Given the description of an element on the screen output the (x, y) to click on. 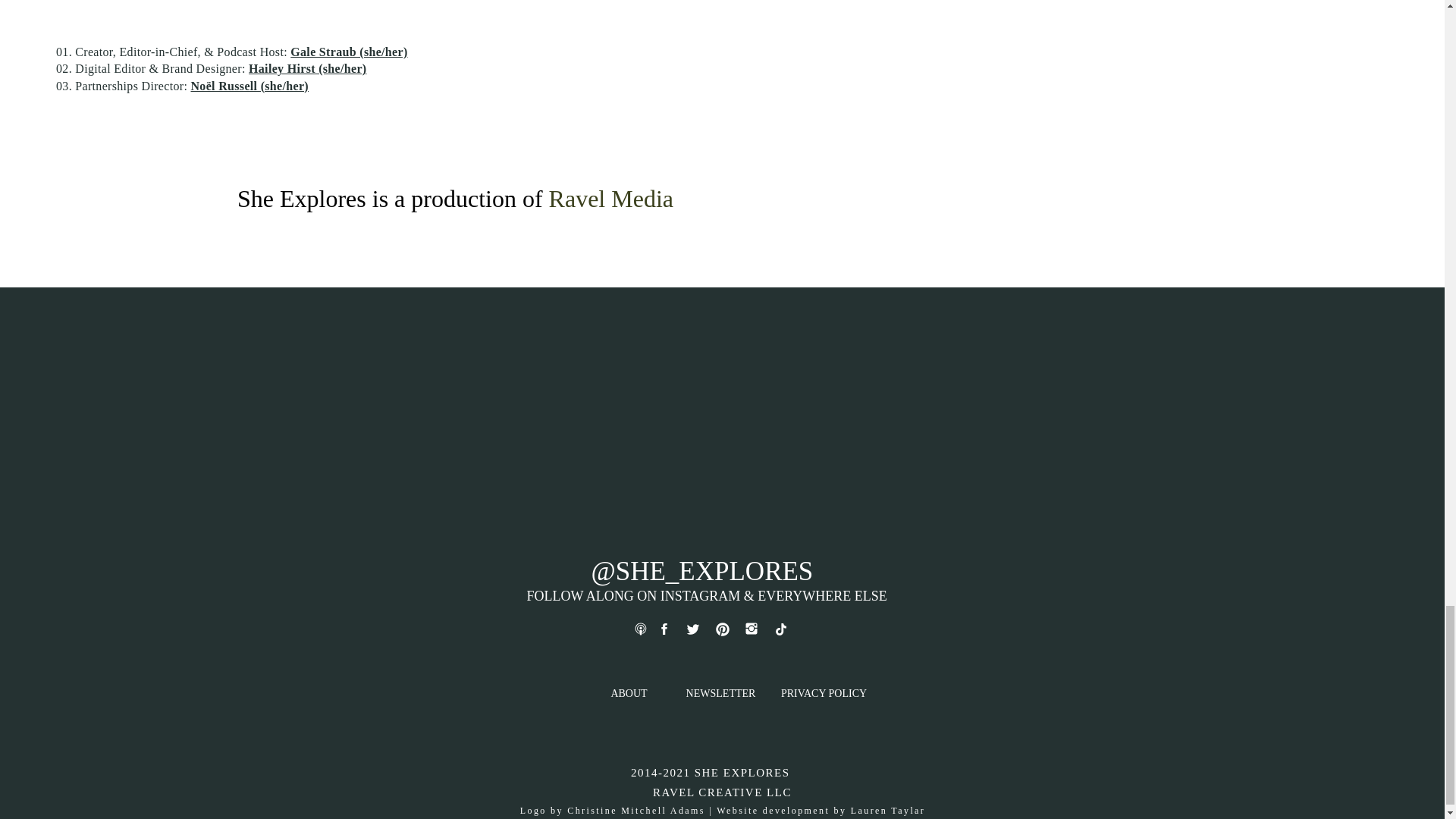
Logo by Christine Mitchell Adams (611, 810)
Ravel Media (610, 198)
Website development by Lauren Taylar (820, 810)
ABOUT (628, 699)
PRIVACY POLICY (824, 699)
NEWSLETTER (720, 699)
